Given the description of an element on the screen output the (x, y) to click on. 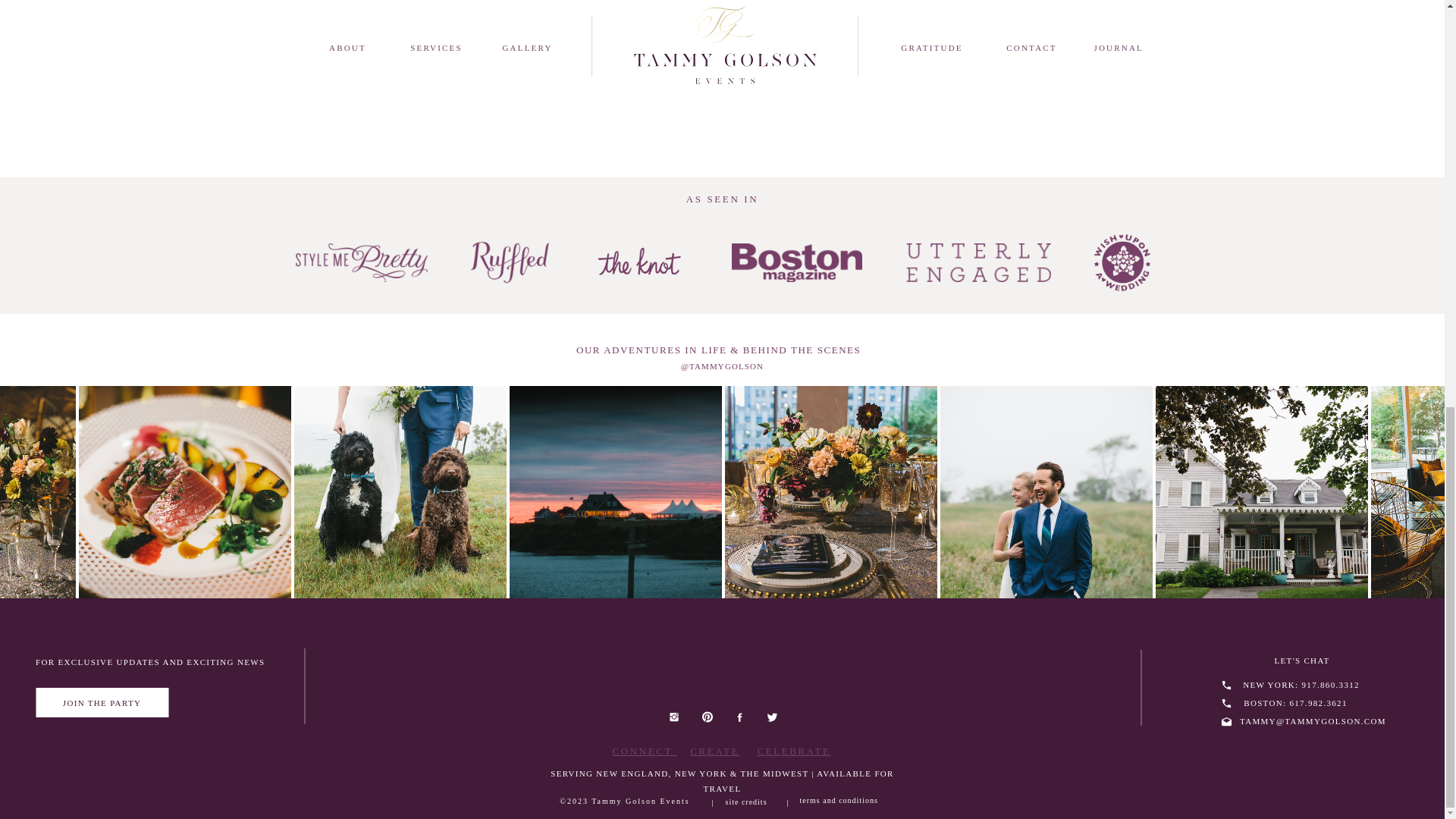
terms and conditions (847, 799)
JOIN THE PARTY (102, 702)
READ MORE (481, 94)
Intimate Weddings and Event Inspiration (482, 88)
CELEBRATE (793, 750)
CREATE (714, 750)
site credits (749, 800)
CONNECT  (644, 750)
